Given the description of an element on the screen output the (x, y) to click on. 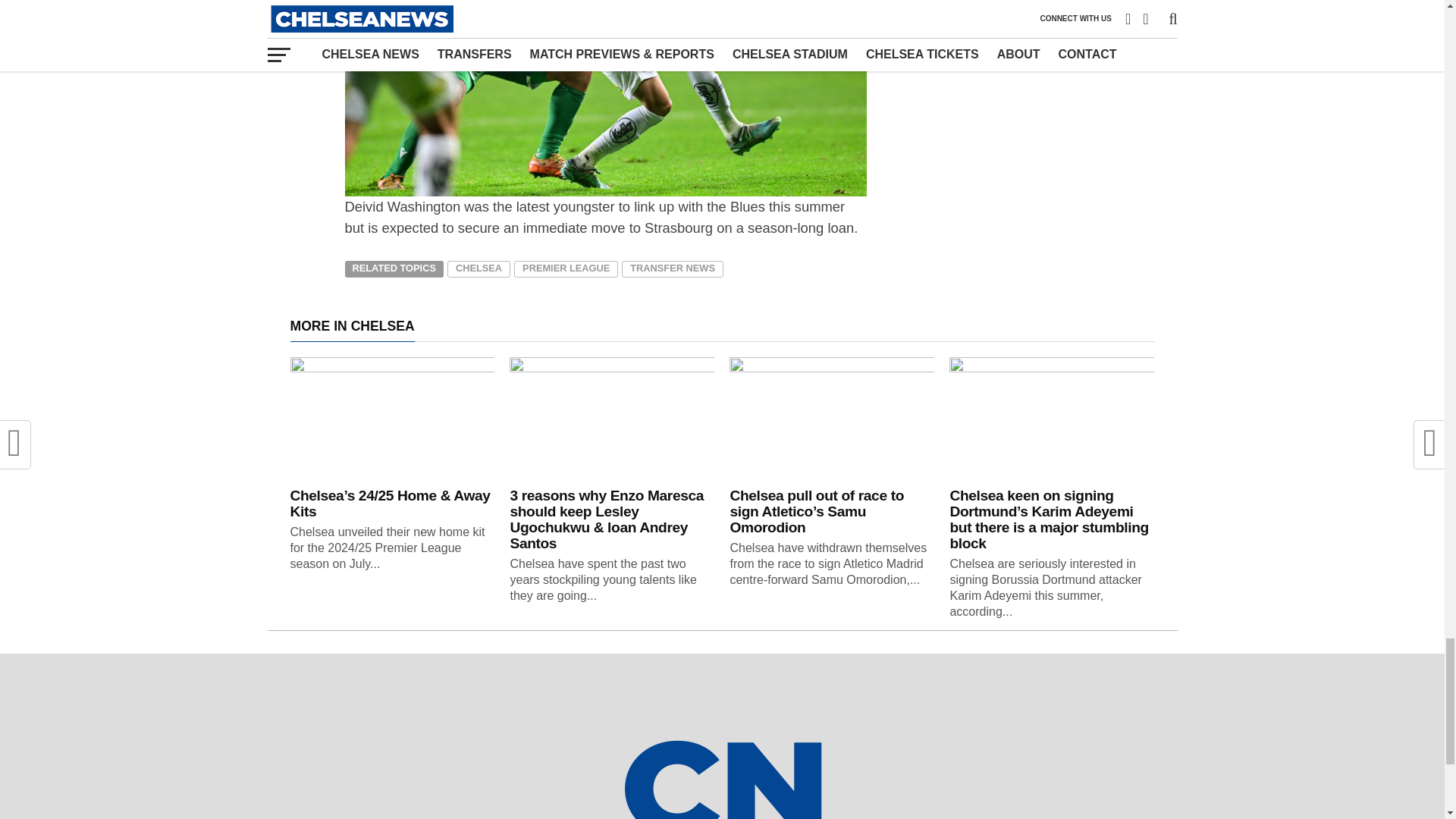
TRANSFER NEWS (672, 269)
CHELSEA (478, 269)
PREMIER LEAGUE (565, 269)
